Given the description of an element on the screen output the (x, y) to click on. 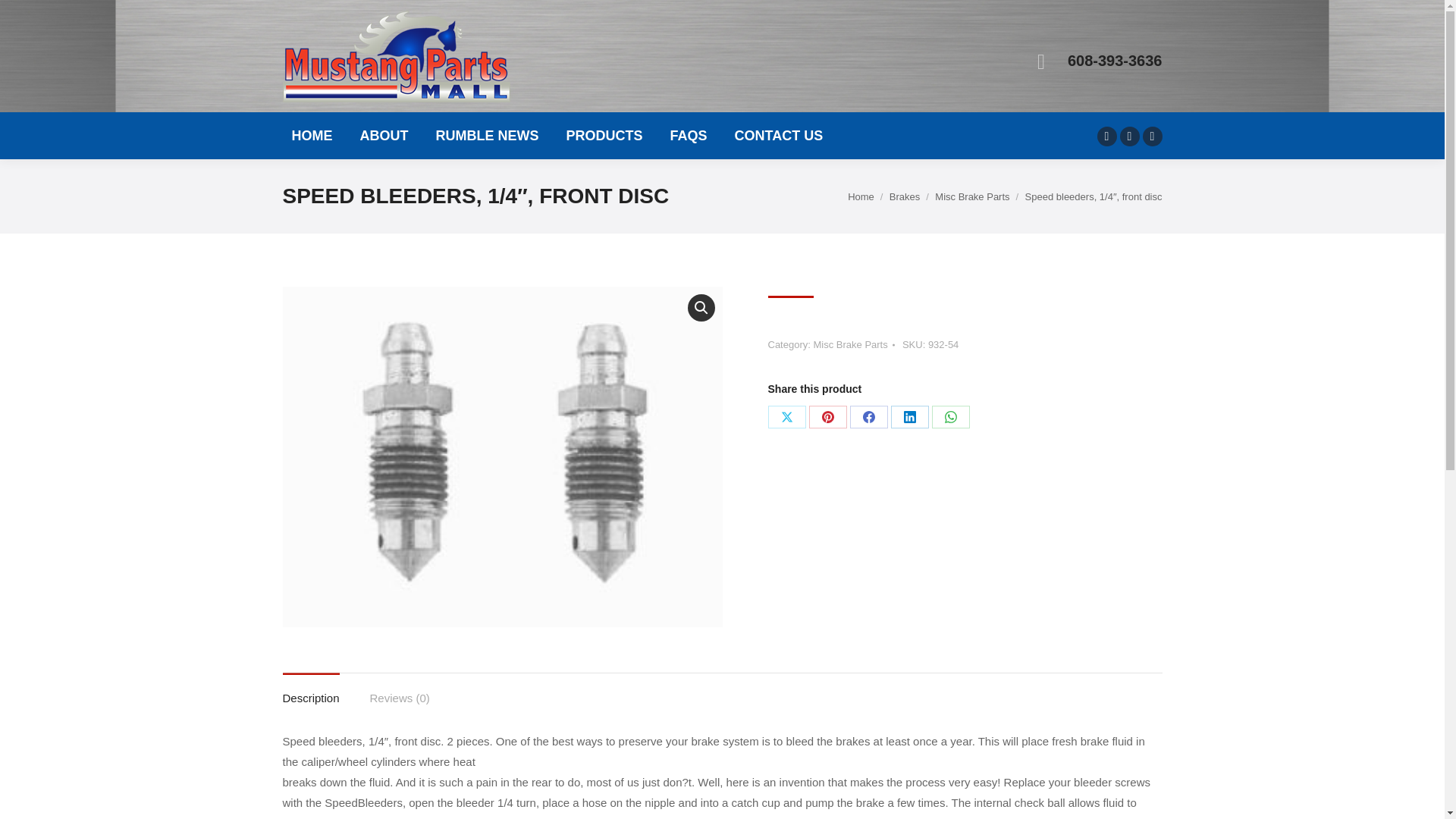
X page opens in new window (1128, 135)
FAQS (688, 135)
X (786, 416)
Brakes (904, 196)
Misc Brake Parts (849, 344)
X page opens in new window (1128, 135)
Share on LinkedIn (908, 416)
Misc Brake Parts (971, 196)
RUMBLE NEWS (486, 135)
Home (861, 196)
